Given the description of an element on the screen output the (x, y) to click on. 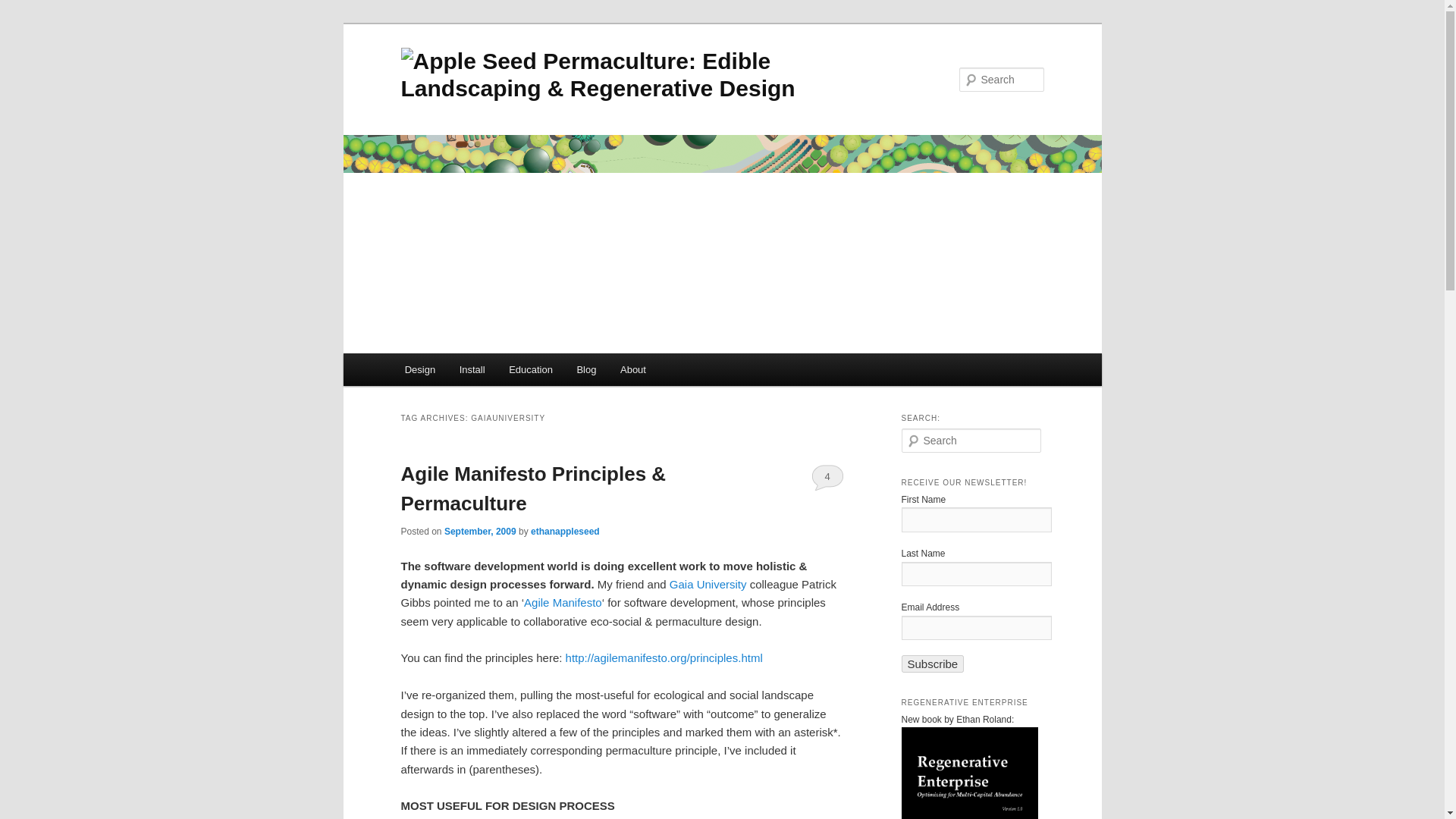
View all posts by ethanappleseed (565, 531)
AppleSeed Permaculture (619, 81)
Blog (586, 368)
4 (827, 476)
Education (530, 368)
Search (24, 8)
Subscribe (932, 663)
About (633, 368)
11:20 pm (480, 531)
September, 2009 (480, 531)
Design (419, 368)
Install (471, 368)
ethanappleseed (565, 531)
